Given the description of an element on the screen output the (x, y) to click on. 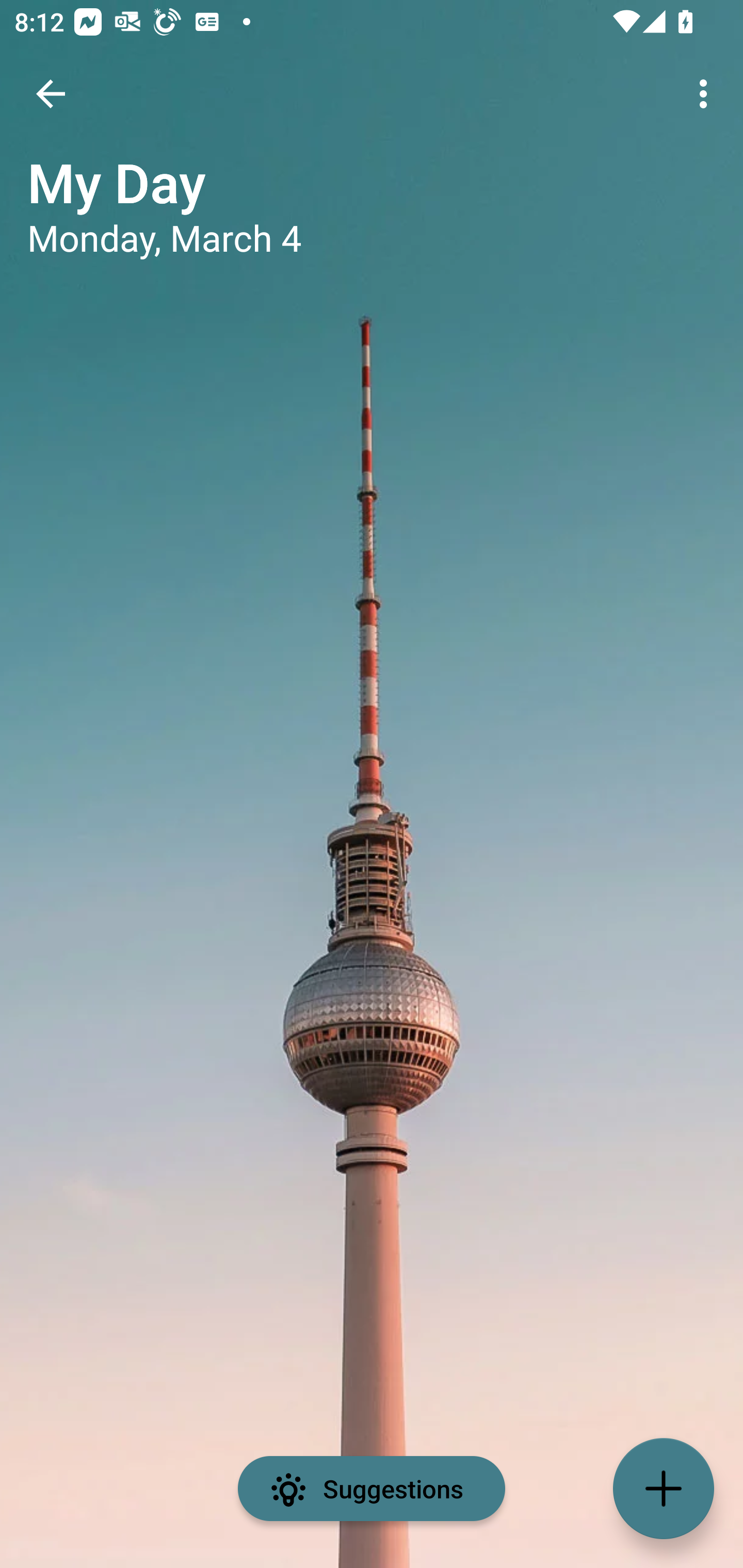
Back (50, 93)
More options (706, 93)
Add a task (663, 1488)
Suggestions (371, 1488)
